Given the description of an element on the screen output the (x, y) to click on. 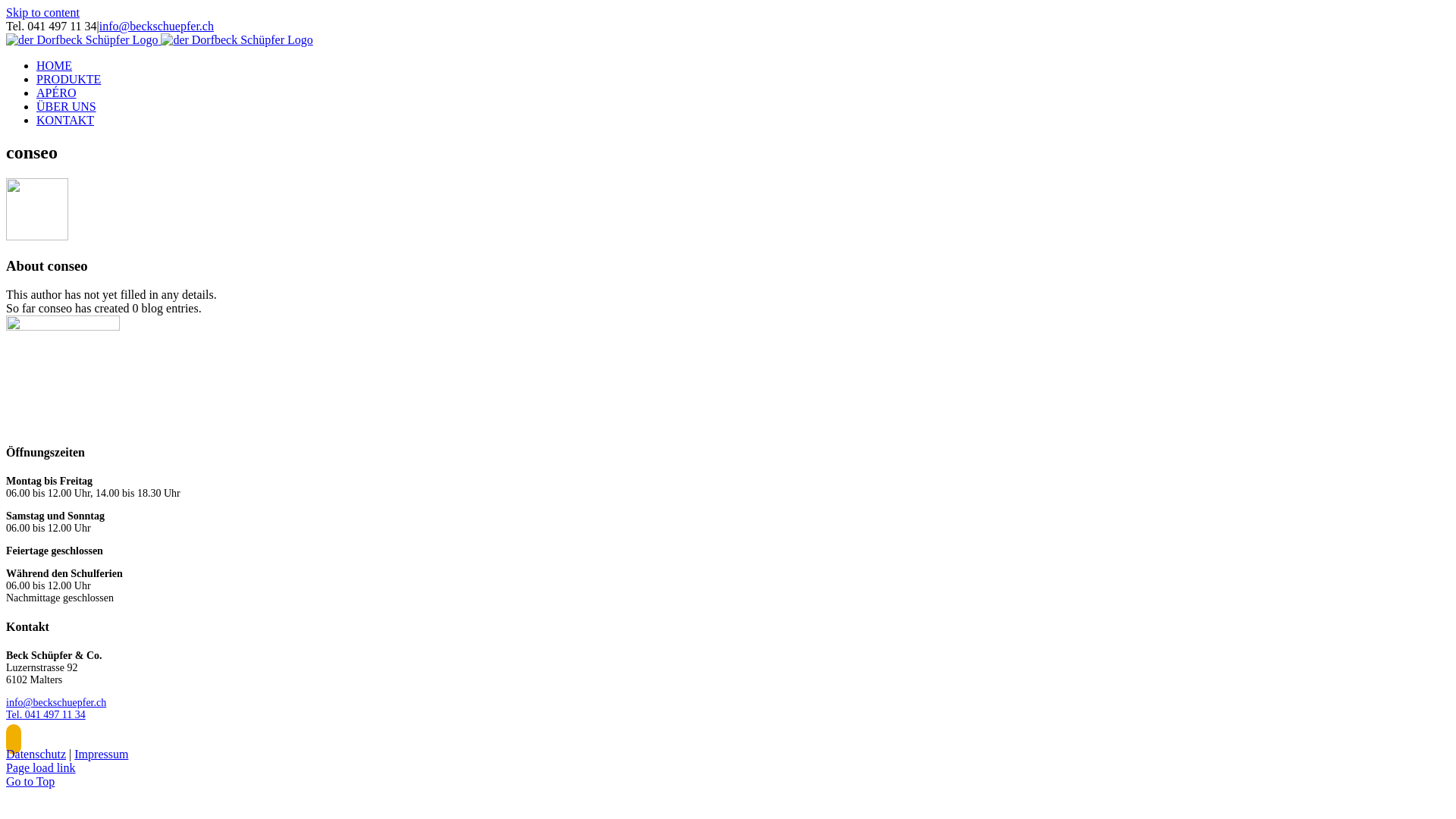
info@beckschuepfer.ch Element type: text (56, 702)
Instagram Element type: hover (13, 739)
KONTAKT Element type: text (65, 119)
HOME Element type: text (54, 65)
Impressum Element type: text (101, 753)
Tel. 041 497 11 34 Element type: text (45, 714)
Skip to content Element type: text (42, 12)
Page load link Element type: text (40, 767)
Datenschutz Element type: text (35, 753)
info@beckschuepfer.ch Element type: text (156, 25)
Go to Top Element type: text (30, 781)
PRODUKTE Element type: text (68, 78)
